Given the description of an element on the screen output the (x, y) to click on. 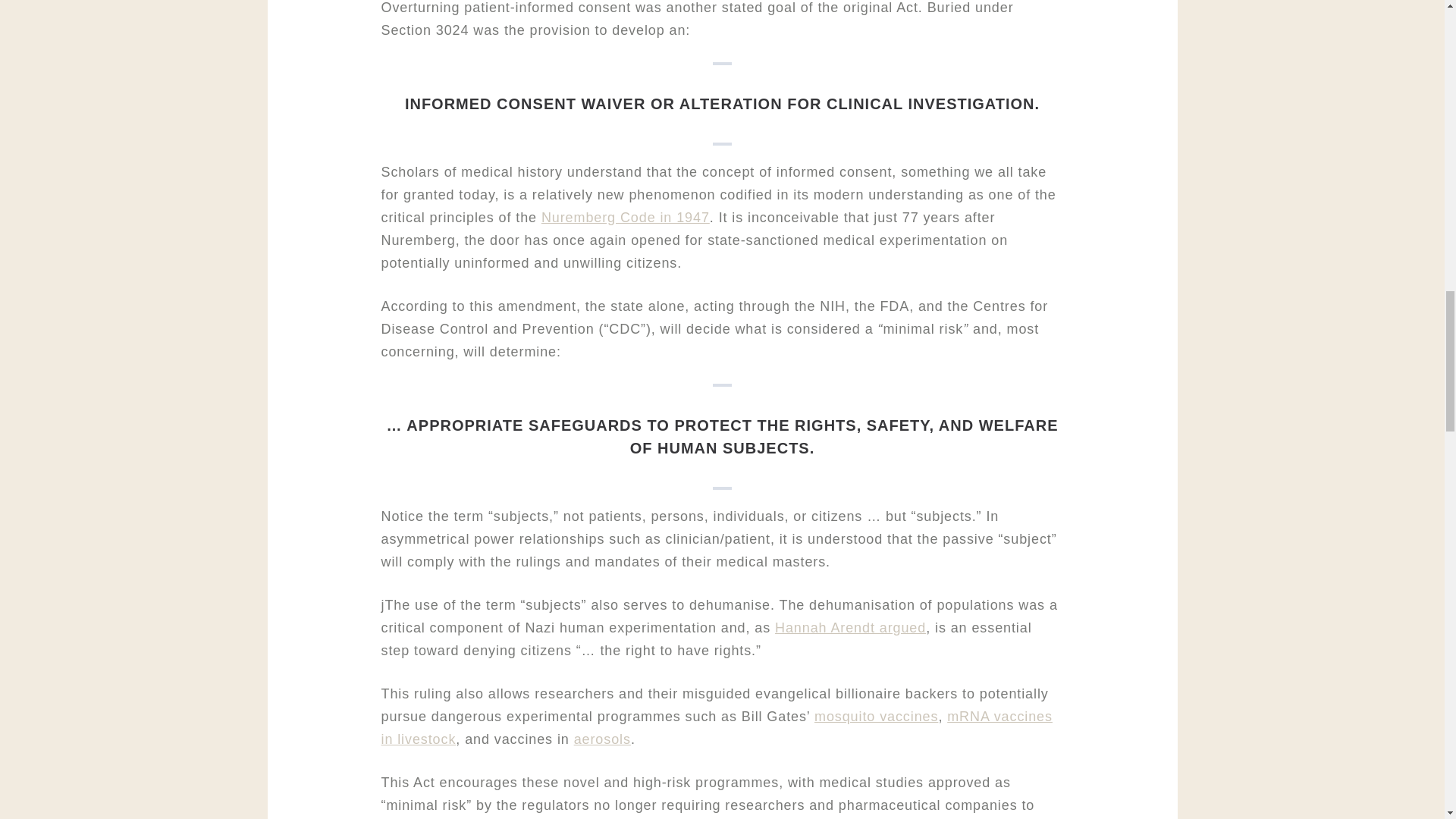
mRNA vaccines (999, 716)
Hannah Arendt argued (850, 627)
aerosols (601, 739)
Nuremberg Code in 1947 (625, 217)
mosquito vaccines (875, 716)
in livestock (417, 739)
